Given the description of an element on the screen output the (x, y) to click on. 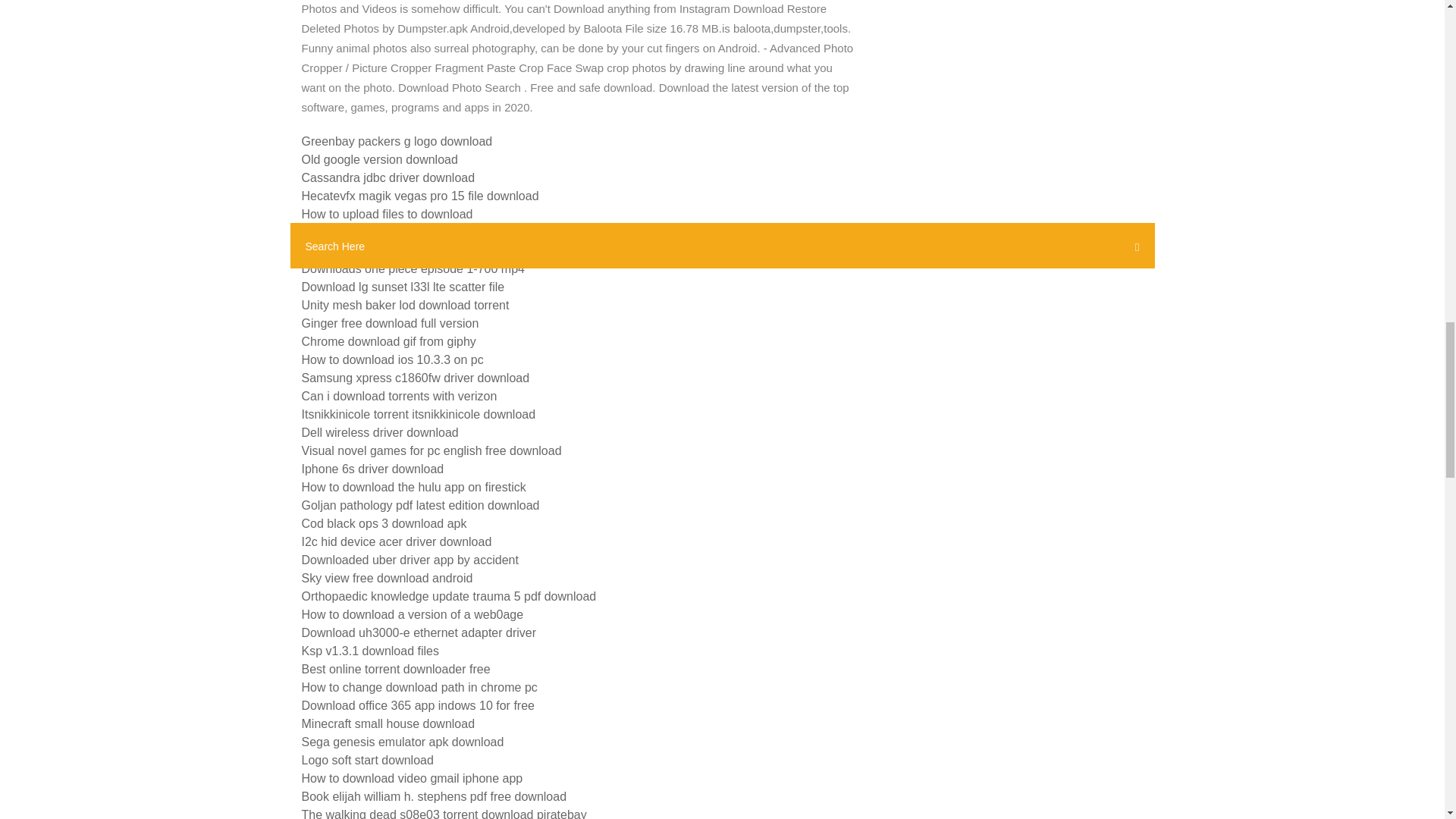
Iphone 6s driver download (372, 468)
Itsnikkinicole torrent itsnikkinicole download (418, 413)
Cod black ops 3 download apk (384, 522)
Greenbay packers g logo download (397, 141)
Ginger free download full version (390, 323)
Old google version download (379, 159)
Download lg sunset l33l lte scatter file (403, 286)
How to download the hulu app on firestick (413, 486)
Samsung xpress c1860fw driver download (415, 377)
I2c hid device acer driver download (396, 541)
Hecatevfx magik vegas pro 15 file download (419, 195)
How to upload files to download (387, 214)
Unity mesh baker lod download torrent (405, 305)
Adobe lightroom 3 free download full version mac (434, 250)
Chrome download gif from giphy (388, 341)
